Given the description of an element on the screen output the (x, y) to click on. 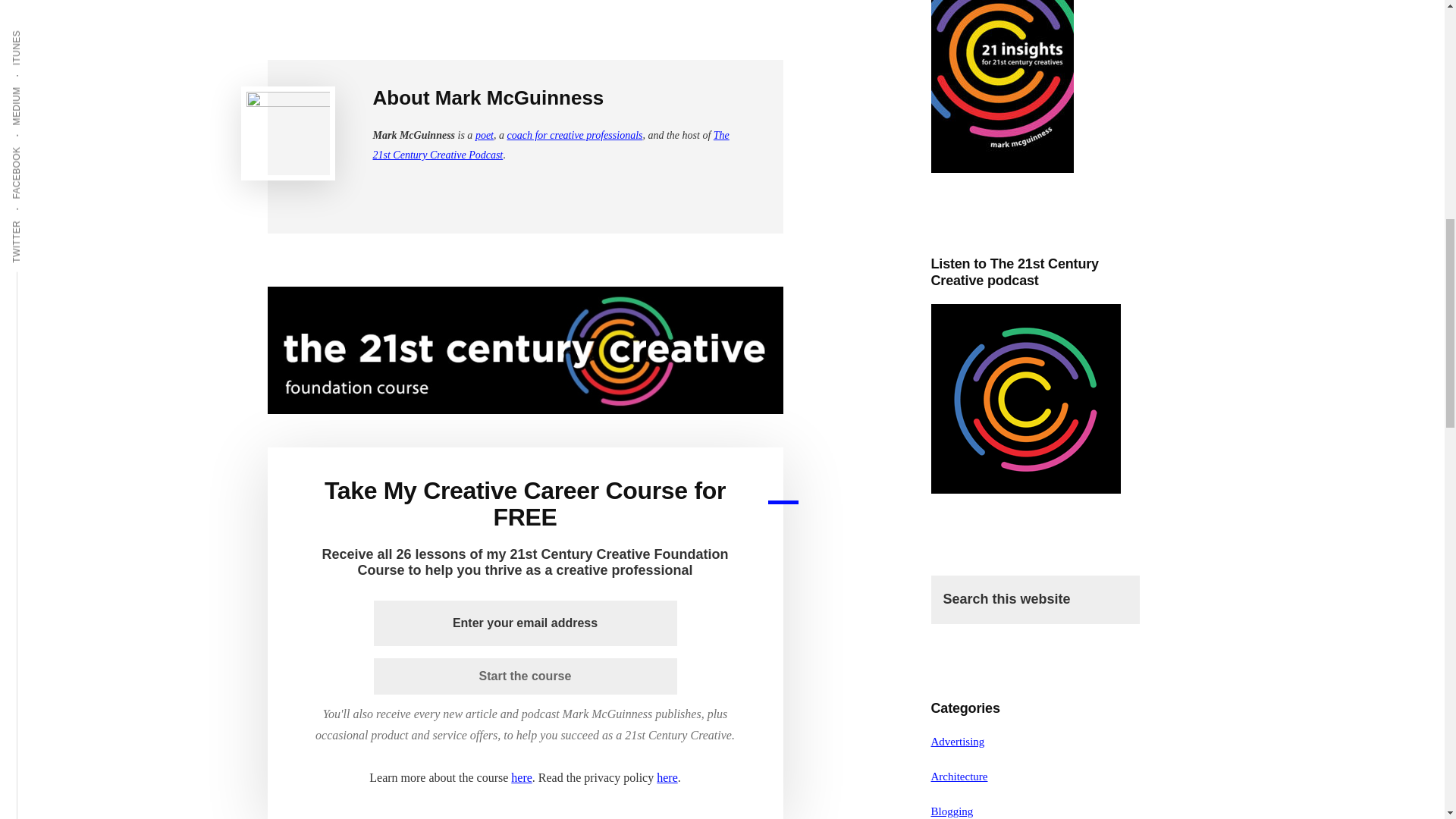
coach for creative professionals (574, 134)
poet (484, 134)
The 21st Century Creative Podcast (550, 144)
Start the course (524, 676)
Start the course (524, 676)
